Given the description of an element on the screen output the (x, y) to click on. 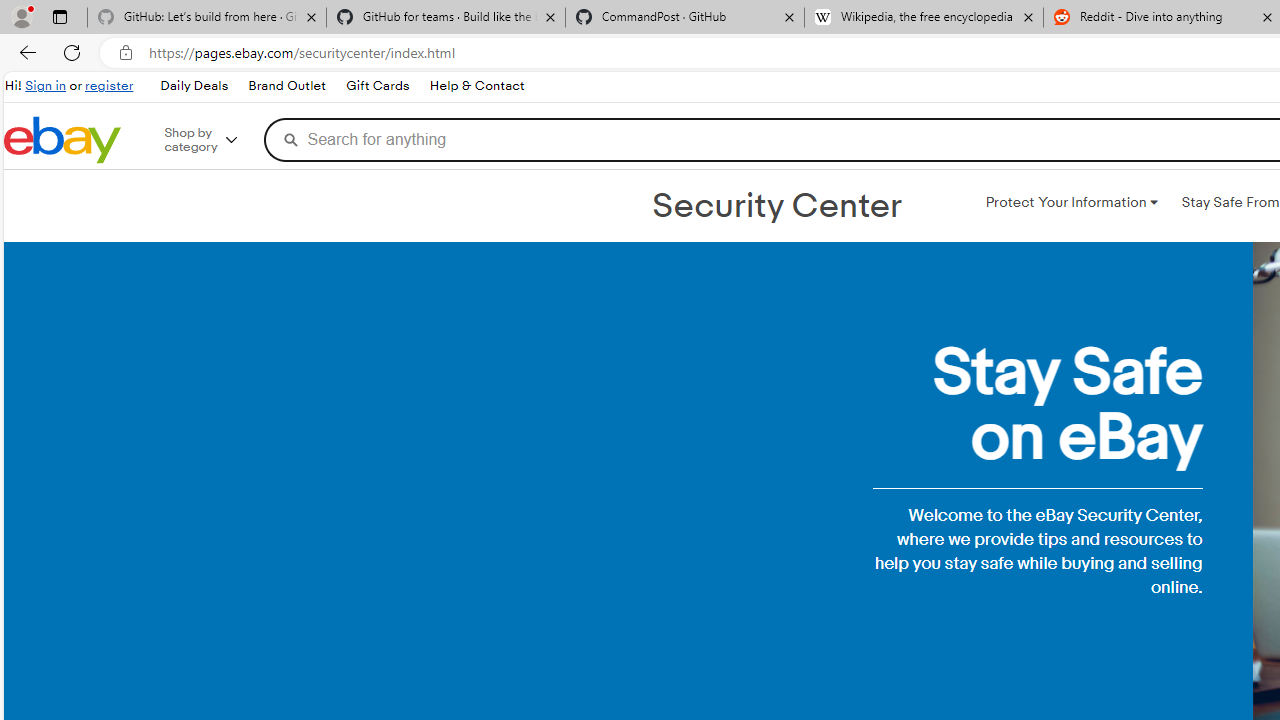
Wikipedia, the free encyclopedia (924, 17)
Daily Deals (193, 85)
Sign in (45, 85)
Daily Deals (194, 86)
Brand Outlet (285, 85)
Protect Your Information  (1071, 202)
Protect Your Information  (1071, 202)
eBay Home (62, 139)
Security Center (776, 206)
